Given the description of an element on the screen output the (x, y) to click on. 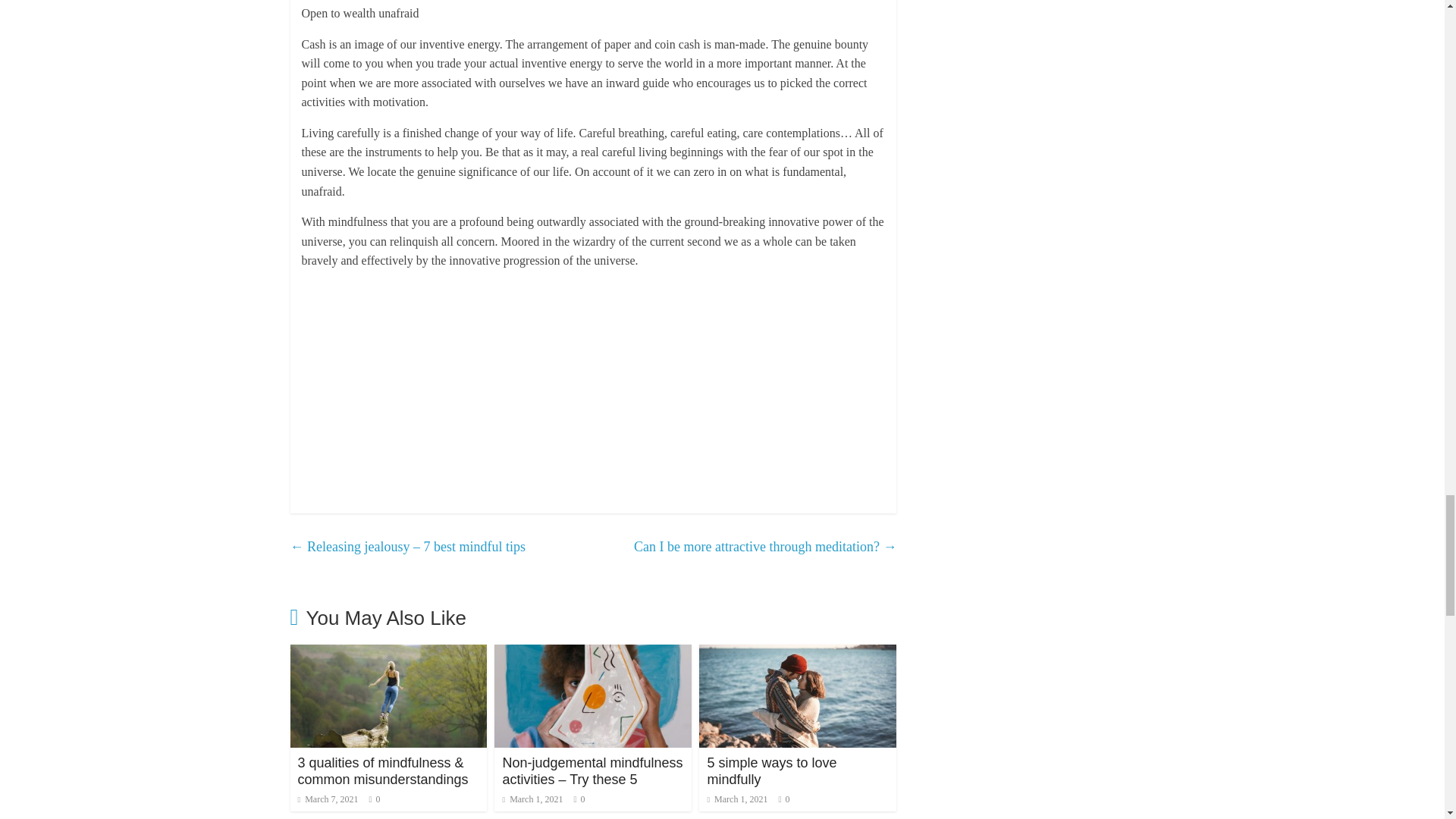
March 7, 2021 (327, 798)
6:04 pm (327, 798)
March 1, 2021 (532, 798)
